Given the description of an element on the screen output the (x, y) to click on. 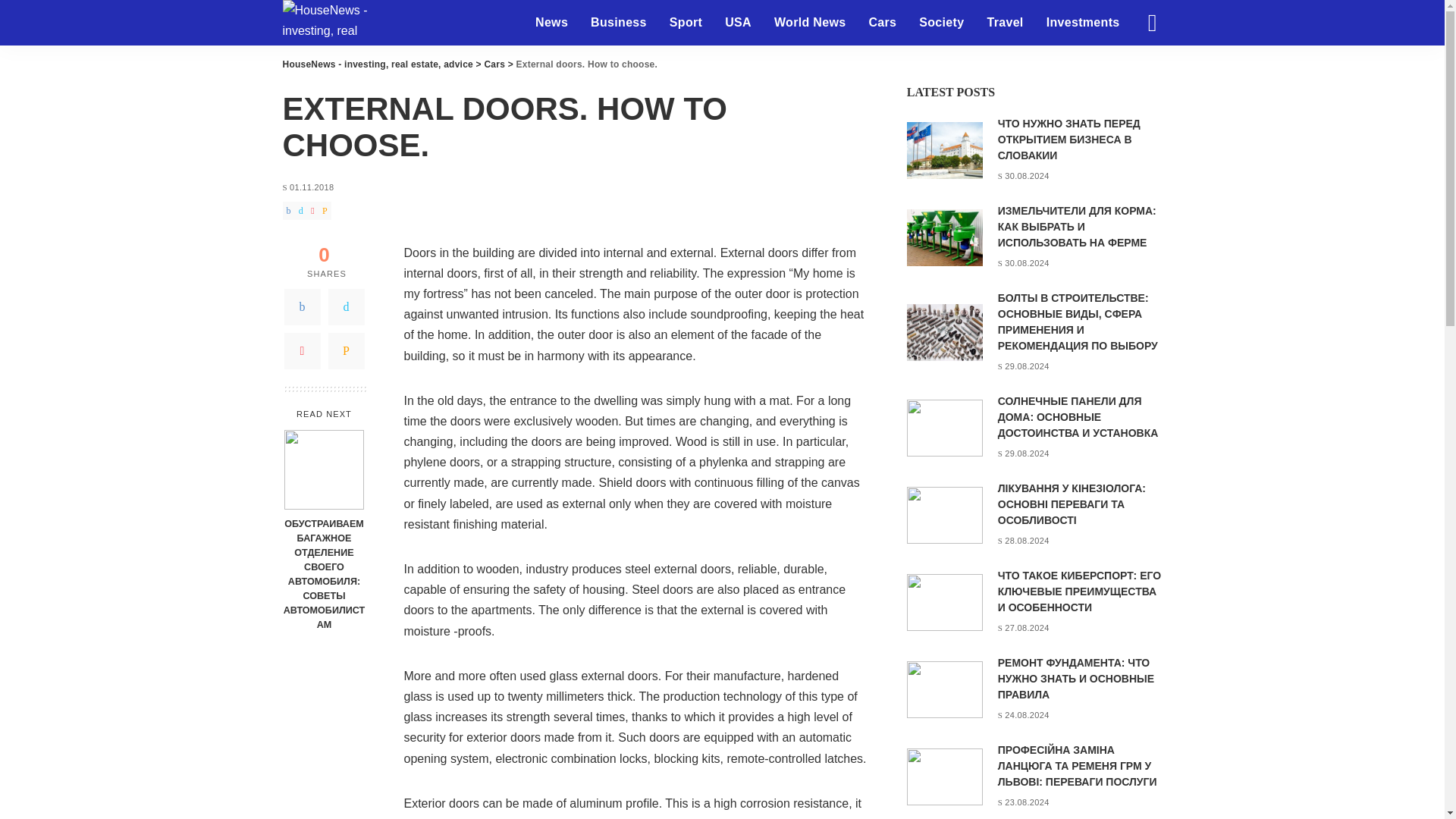
World News (809, 22)
Travel (1004, 22)
Go to HouseNews - investing, real estate, advice. (377, 63)
Cars (882, 22)
Business (618, 22)
Search (1140, 76)
Investments (1083, 22)
Society (941, 22)
USA (737, 22)
HouseNews - investing, real estate, advice (329, 22)
